Given the description of an element on the screen output the (x, y) to click on. 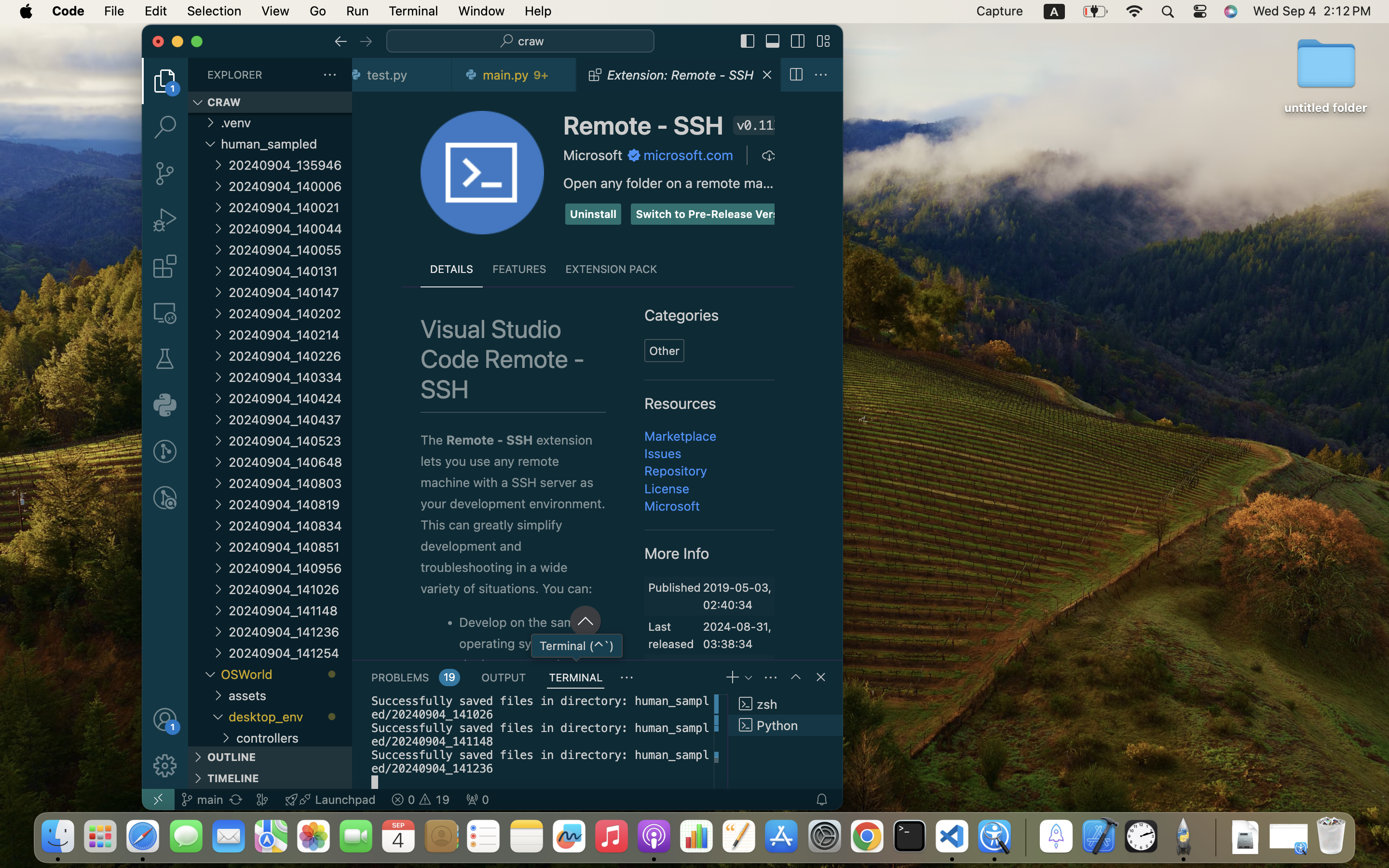
20240904_140055 Element type: AXGroup (290, 249)
 Element type: AXButton (823, 41)
20240904_141254 Element type: AXGroup (290, 652)
Marketplace Element type: AXStaticText (680, 435)
Launchpad   Element type: AXButton (330, 799)
